Given the description of an element on the screen output the (x, y) to click on. 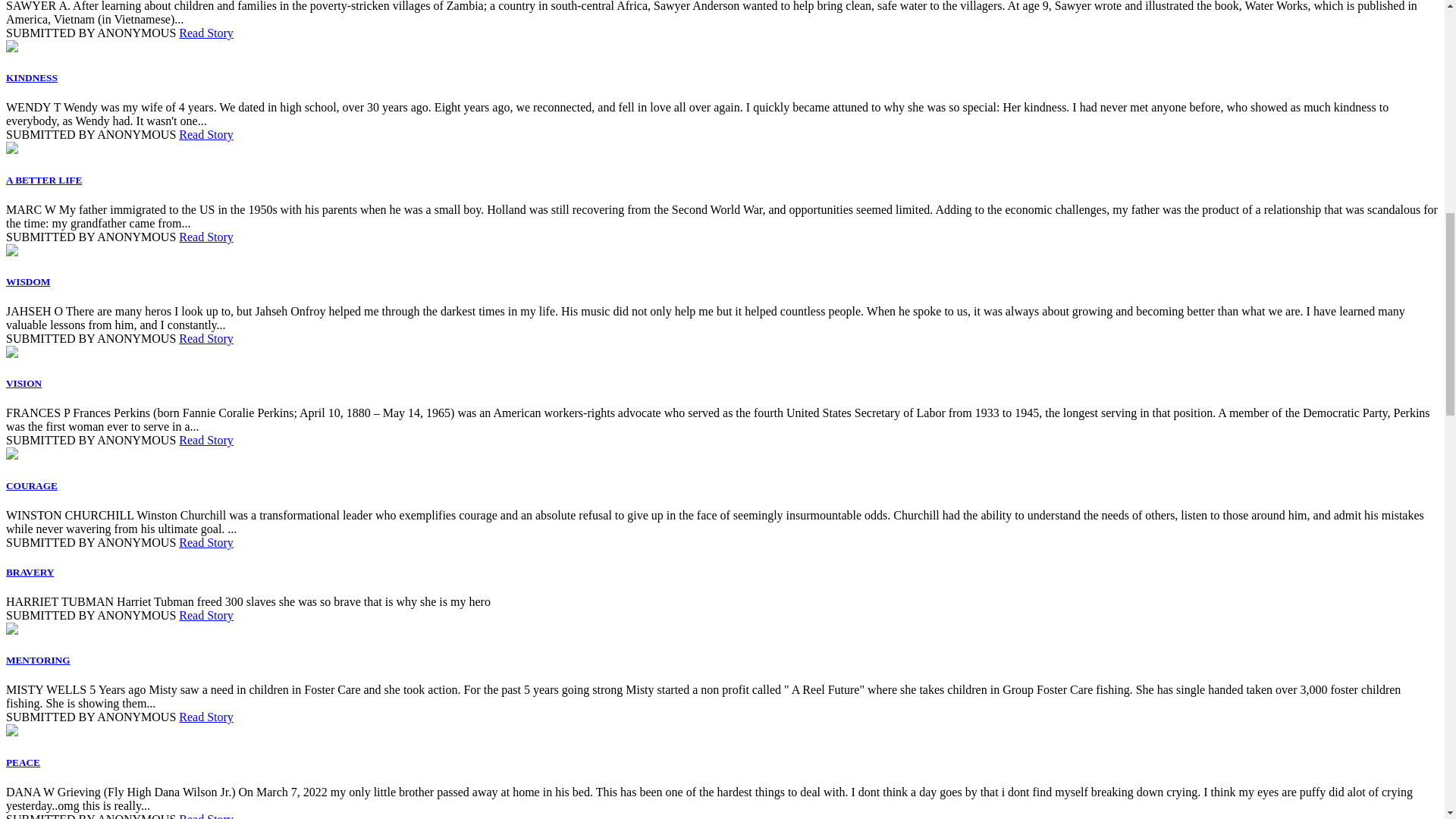
KINDNESS (31, 77)
A BETTER LIFE (43, 179)
Read Story (205, 32)
Read Story (205, 236)
Read Story (205, 133)
WISDOM (27, 281)
Read Story (205, 338)
